Given the description of an element on the screen output the (x, y) to click on. 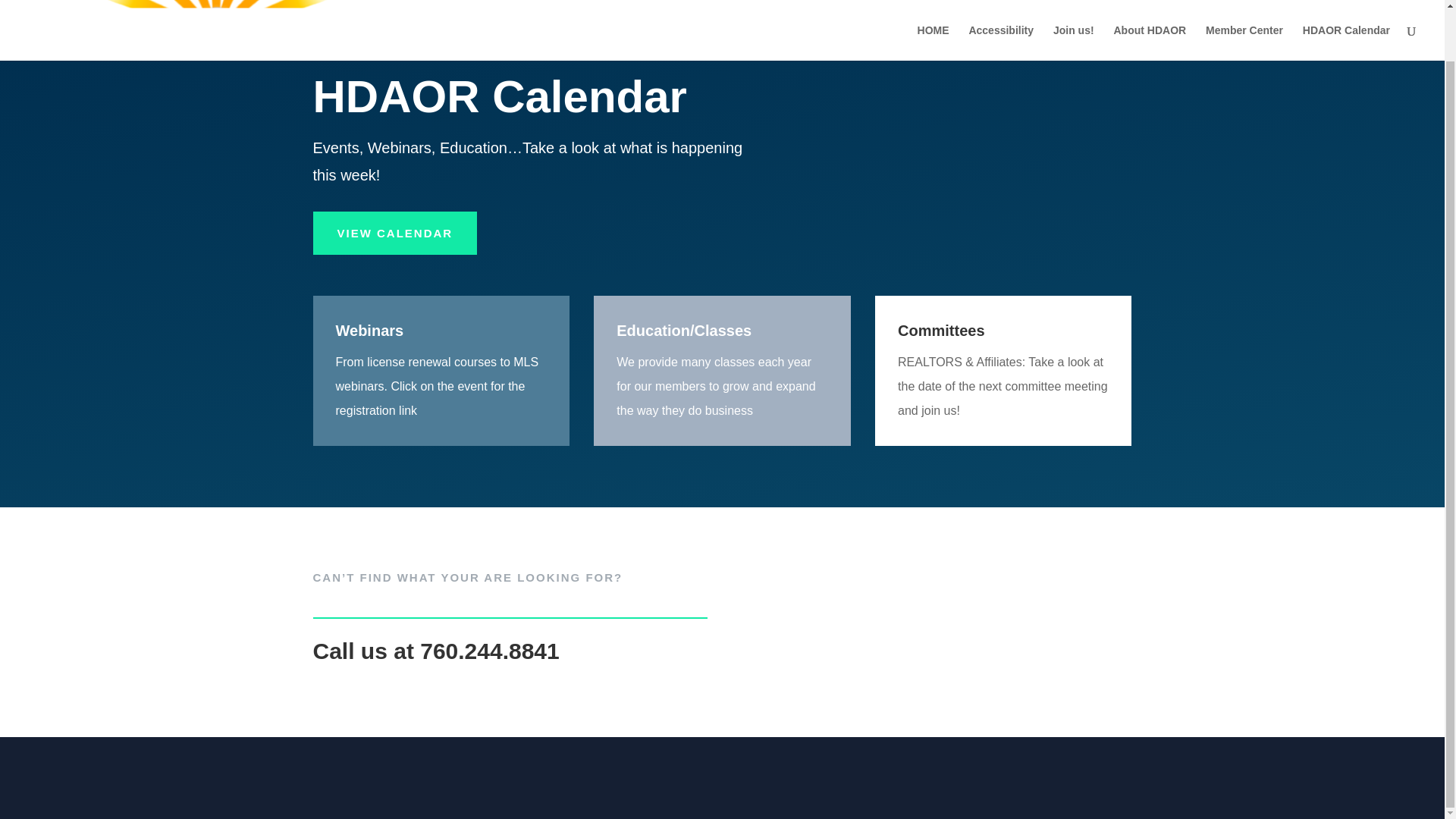
Member Center (1243, 2)
Join us! (1073, 2)
HDAOR Calendar (1346, 2)
VIEW CALENDAR (395, 233)
About HDAOR (1149, 2)
Accessibility (1000, 2)
HOME (933, 2)
